Given the description of an element on the screen output the (x, y) to click on. 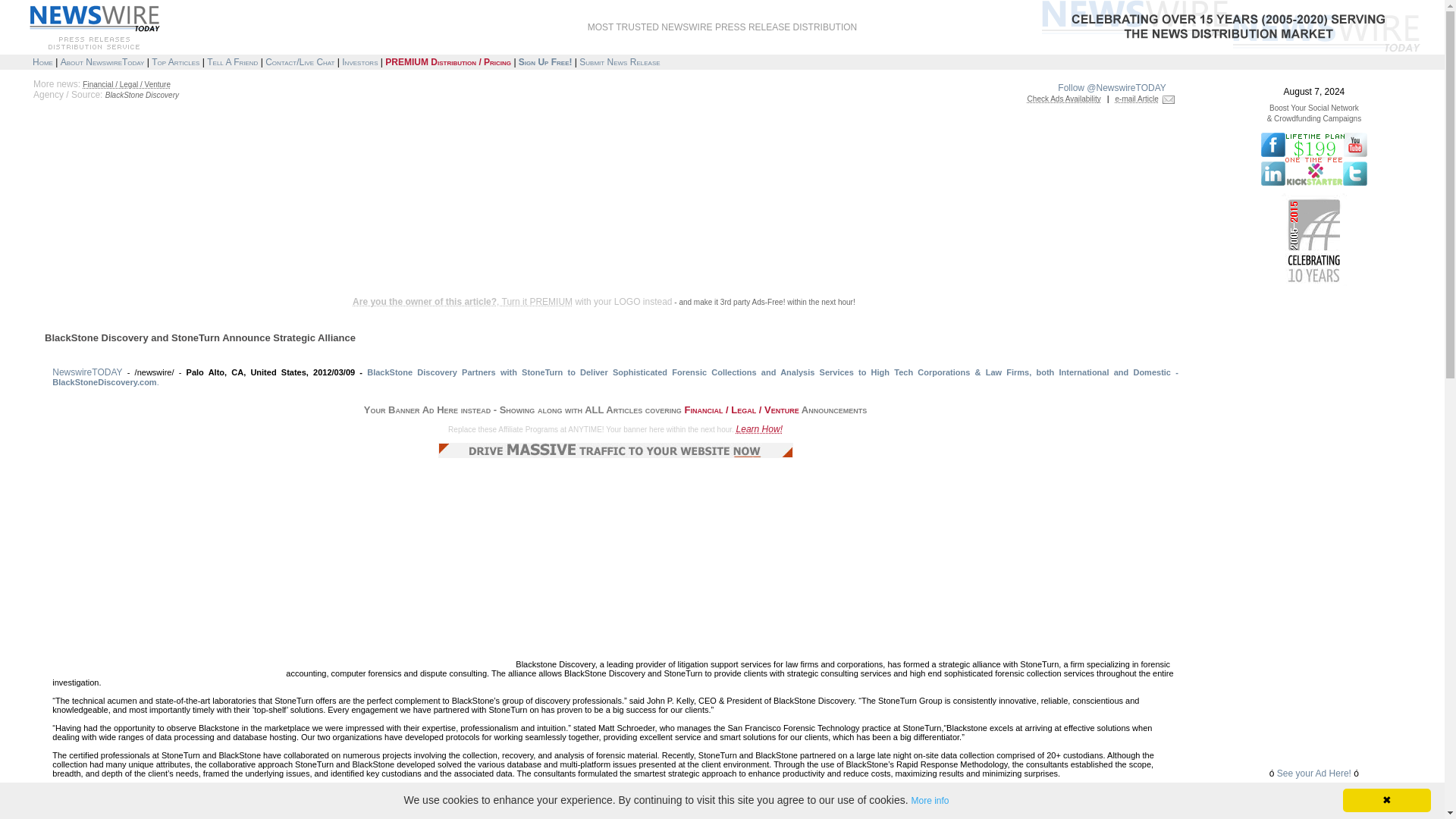
Submit News Release (619, 61)
Sign Up Free! (545, 61)
About NewswireToday (102, 61)
Advertisement (300, 246)
Sign Up FREE! (545, 61)
About NewswireToday (102, 61)
Learn How! (759, 429)
BlackStone Discovery (141, 94)
